Given the description of an element on the screen output the (x, y) to click on. 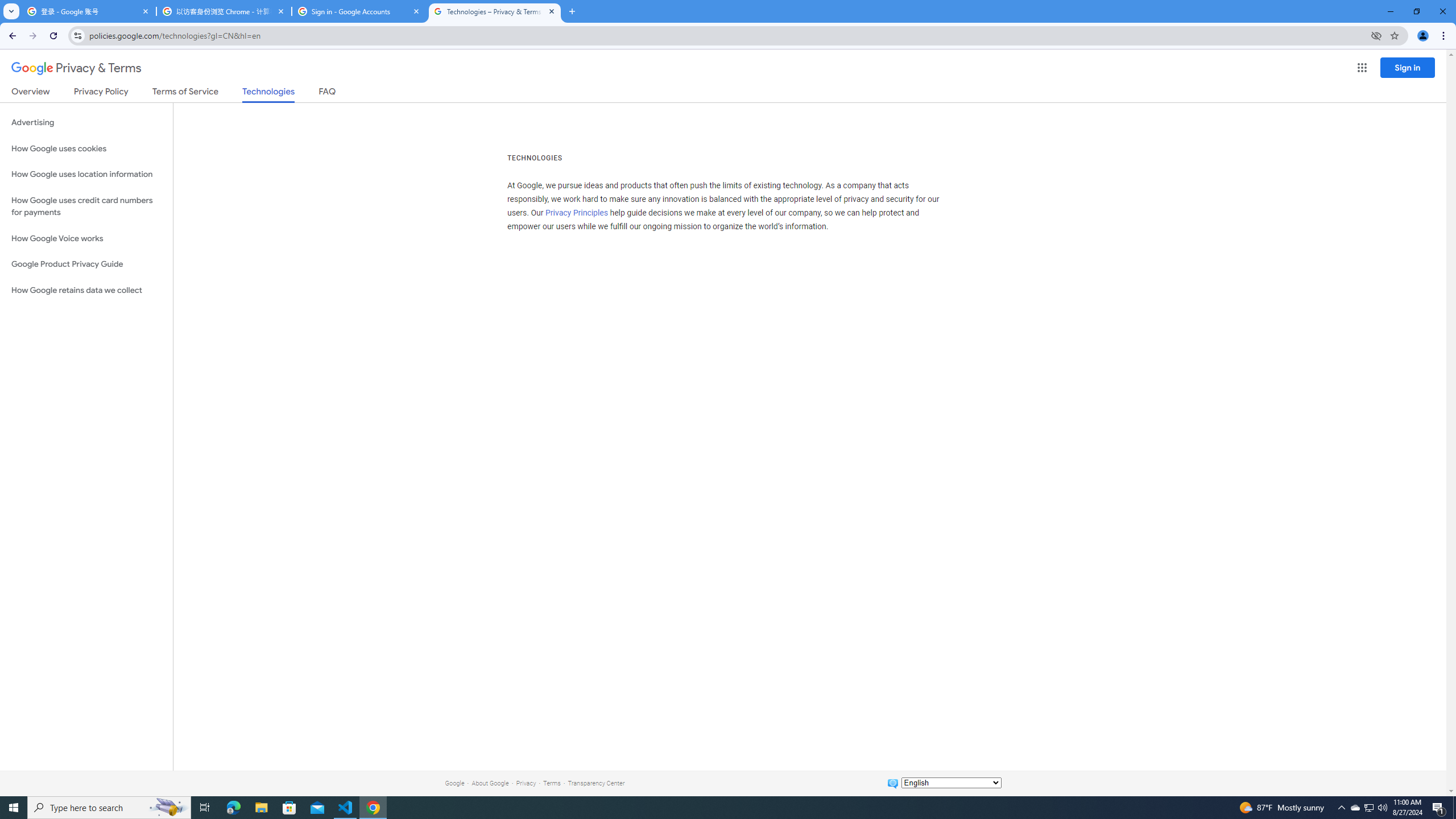
Advertising (86, 122)
Privacy Principles (577, 213)
Transparency Center (595, 783)
